Given the description of an element on the screen output the (x, y) to click on. 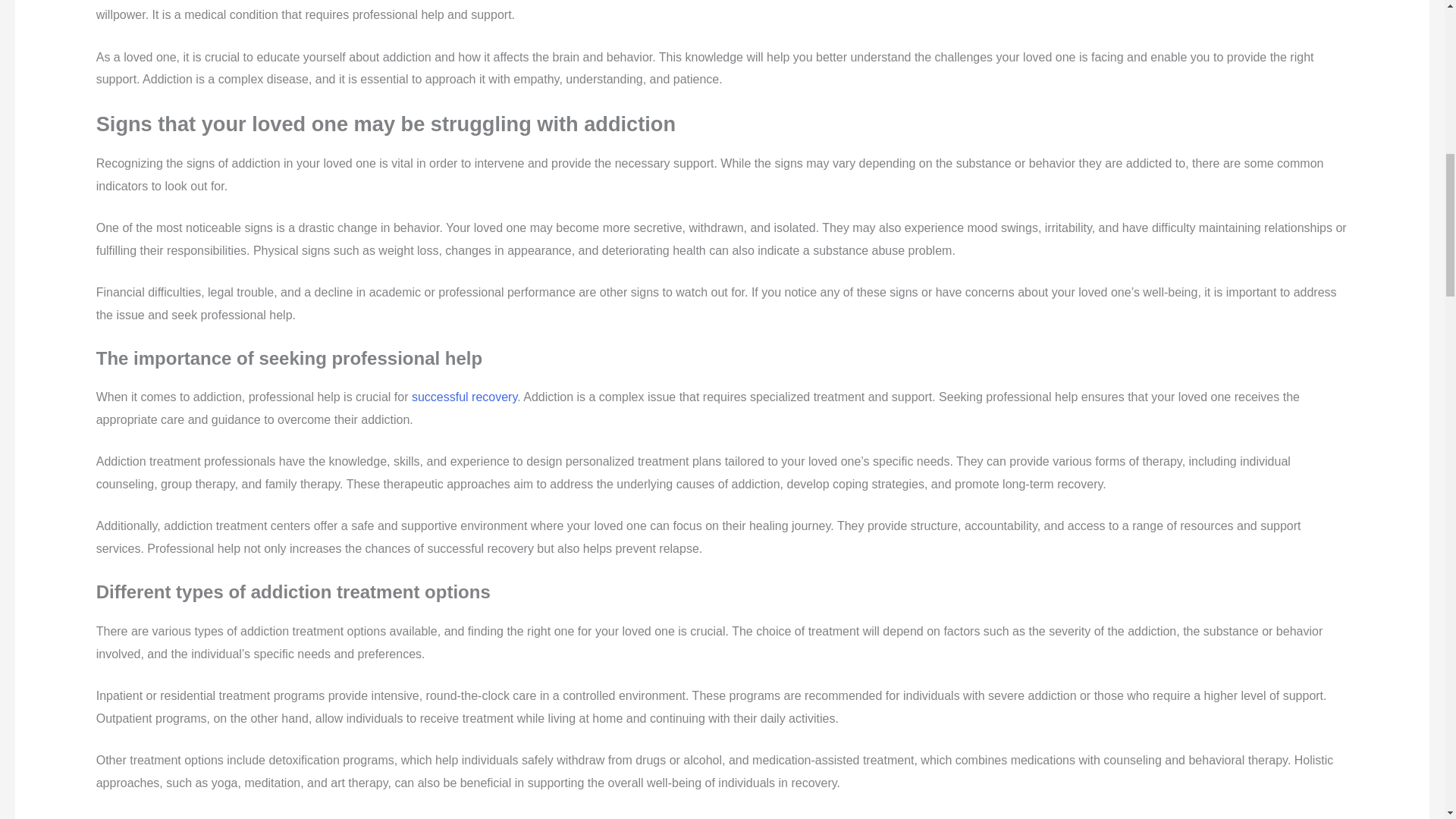
successful recovery (464, 396)
